Given the description of an element on the screen output the (x, y) to click on. 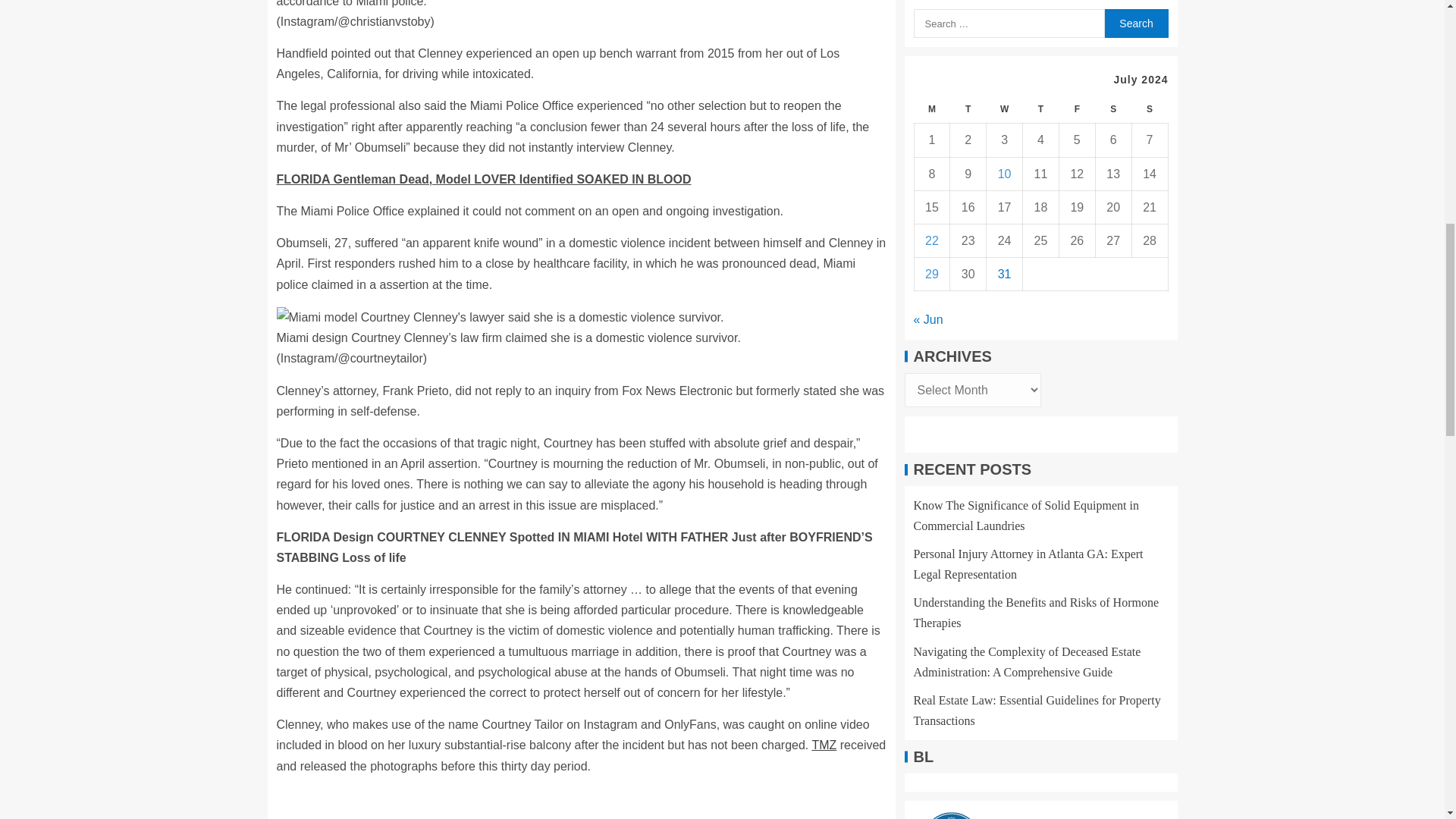
TMZ (822, 744)
